Given the description of an element on the screen output the (x, y) to click on. 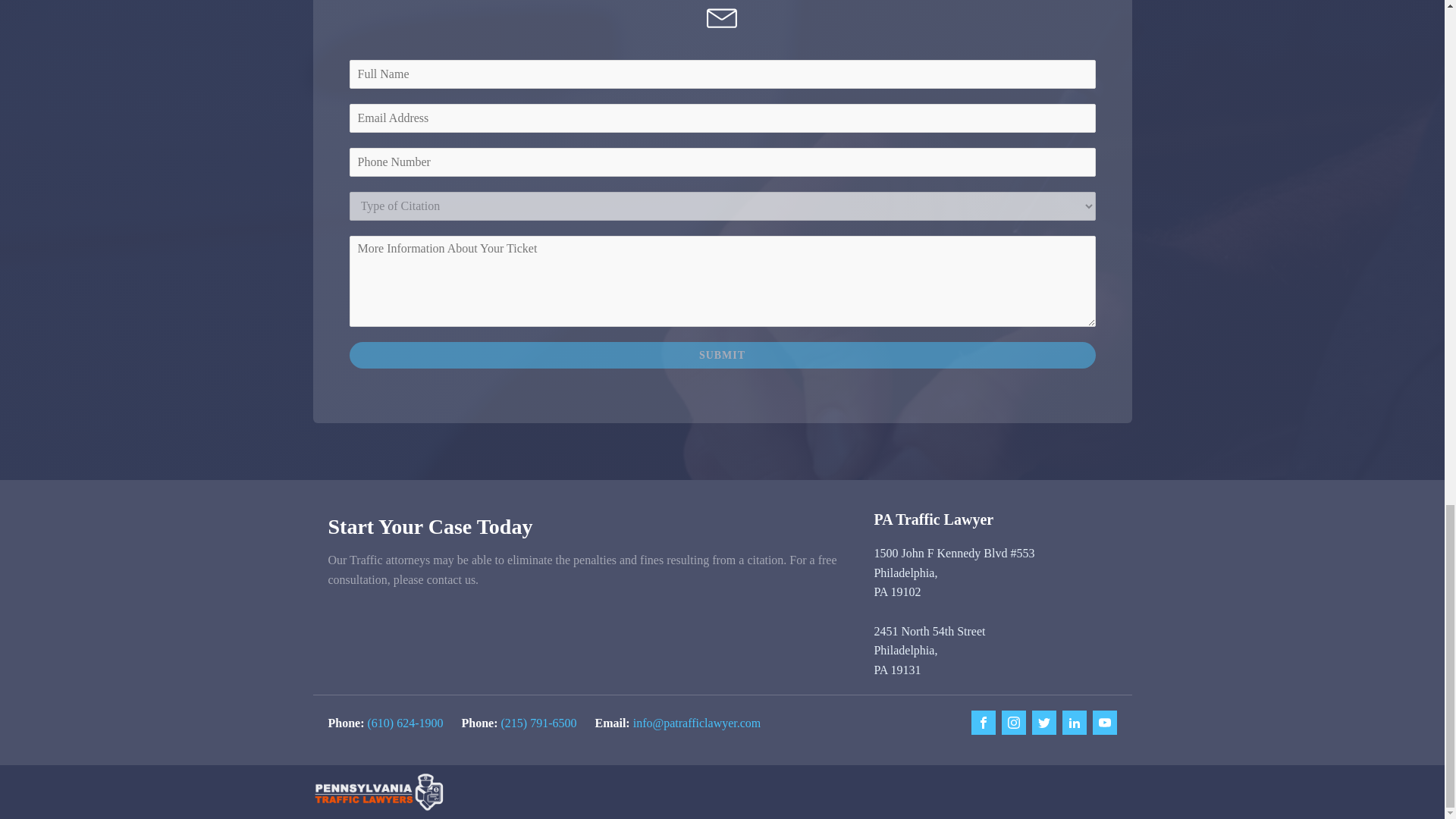
SUBMIT (721, 355)
